Given the description of an element on the screen output the (x, y) to click on. 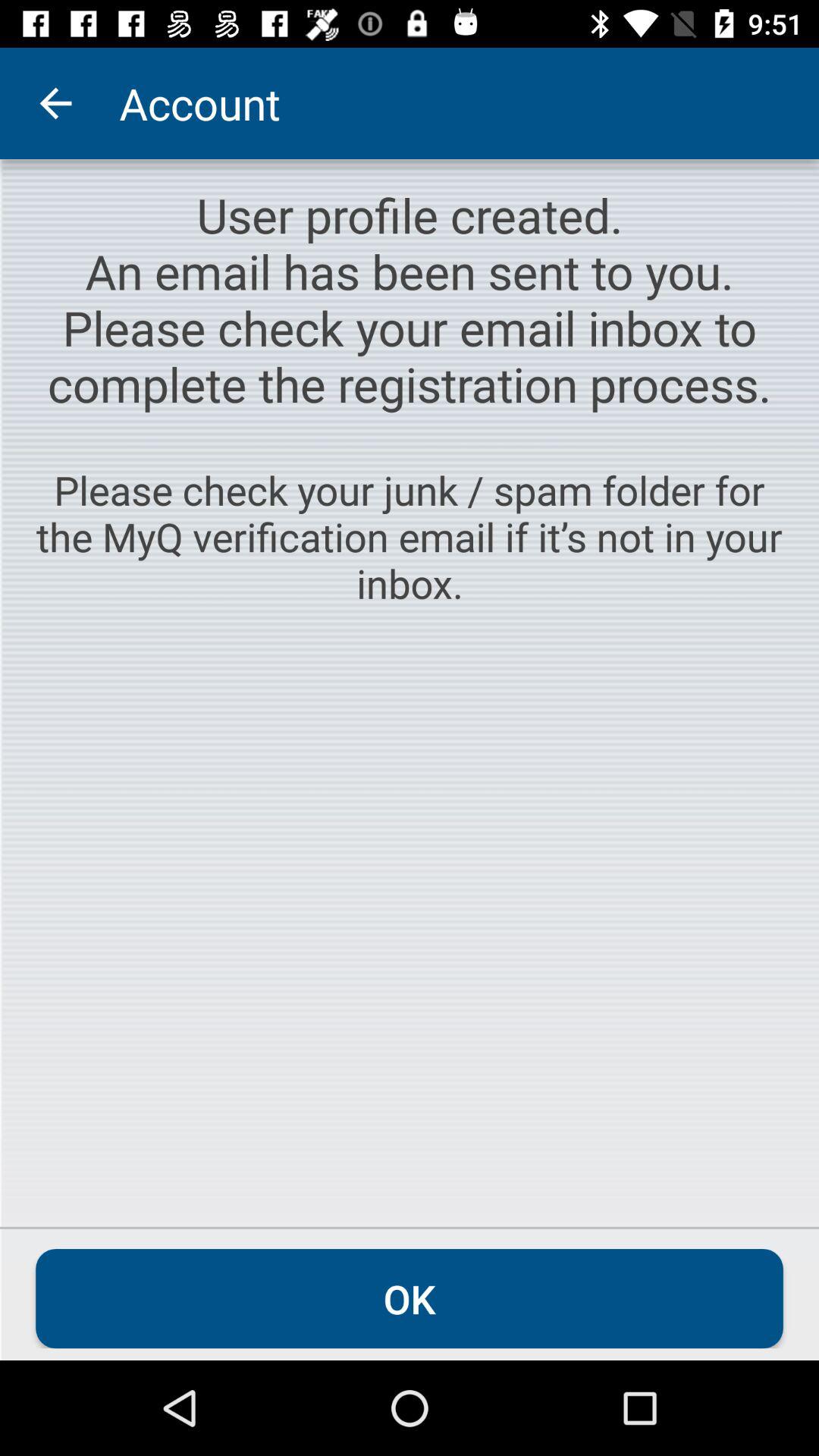
launch the icon next to the account icon (55, 103)
